Given the description of an element on the screen output the (x, y) to click on. 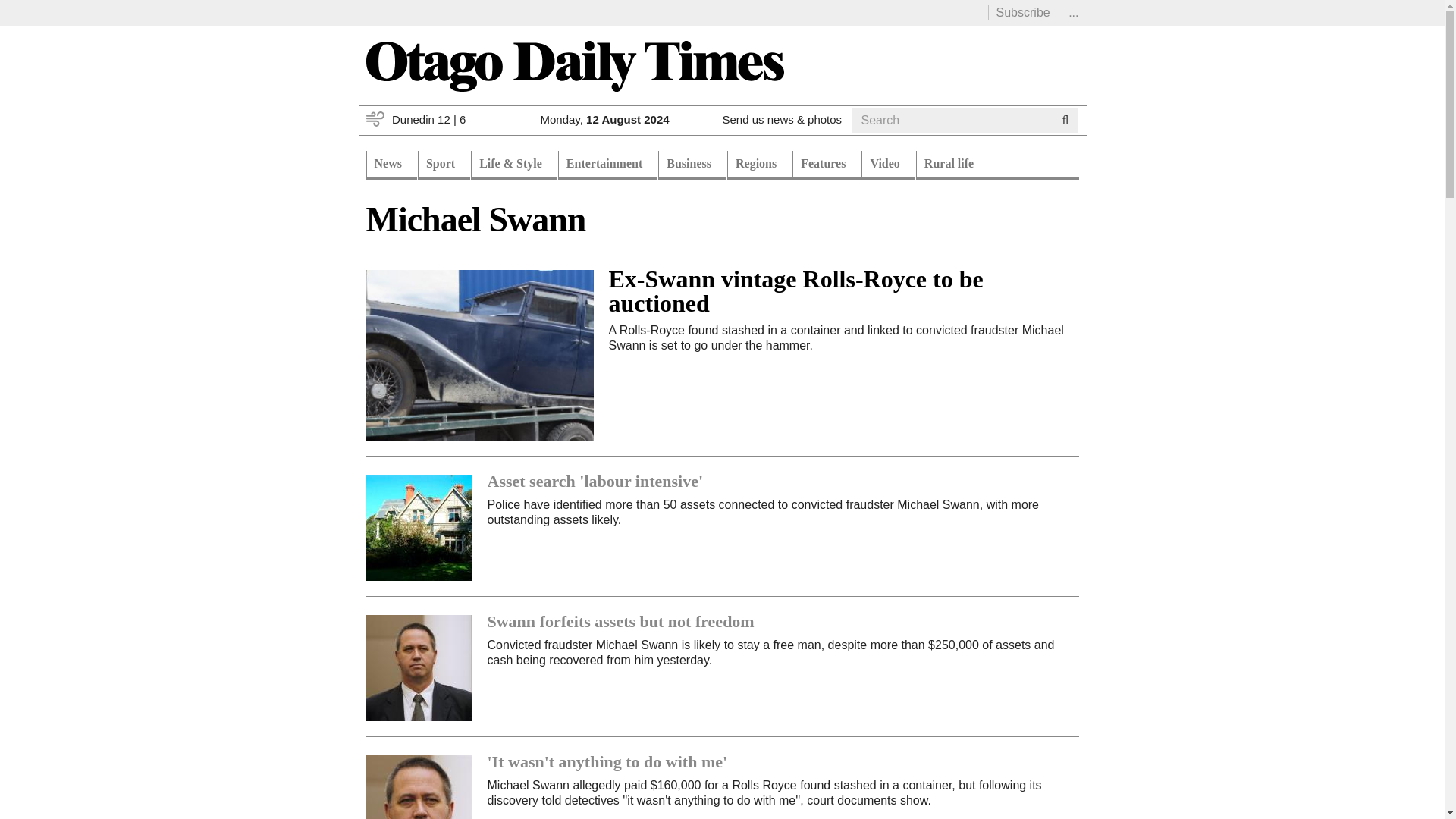
Subscribe (1022, 11)
Sport (443, 165)
Wind (374, 118)
News (390, 165)
Search (879, 138)
Home (574, 65)
Enter the terms you wish to search for. (951, 120)
